Given the description of an element on the screen output the (x, y) to click on. 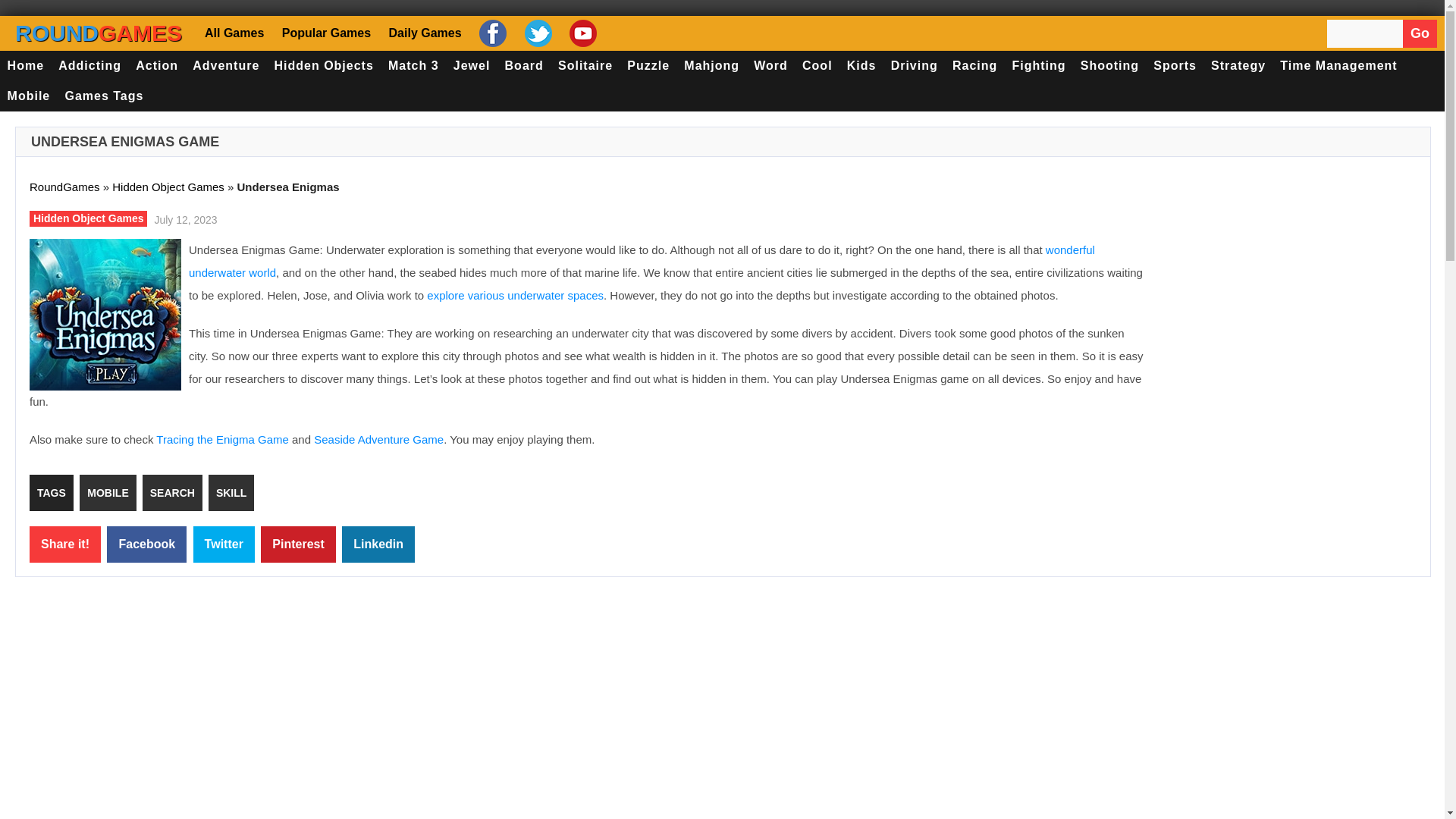
All Games (237, 32)
Follow us on Facebook (491, 32)
Popular Games (324, 32)
Advertisement (1288, 348)
ROUNDGAMES (98, 32)
Adventure (226, 65)
Action (157, 65)
Addicting (89, 65)
9:59 pm (182, 218)
